Given the description of an element on the screen output the (x, y) to click on. 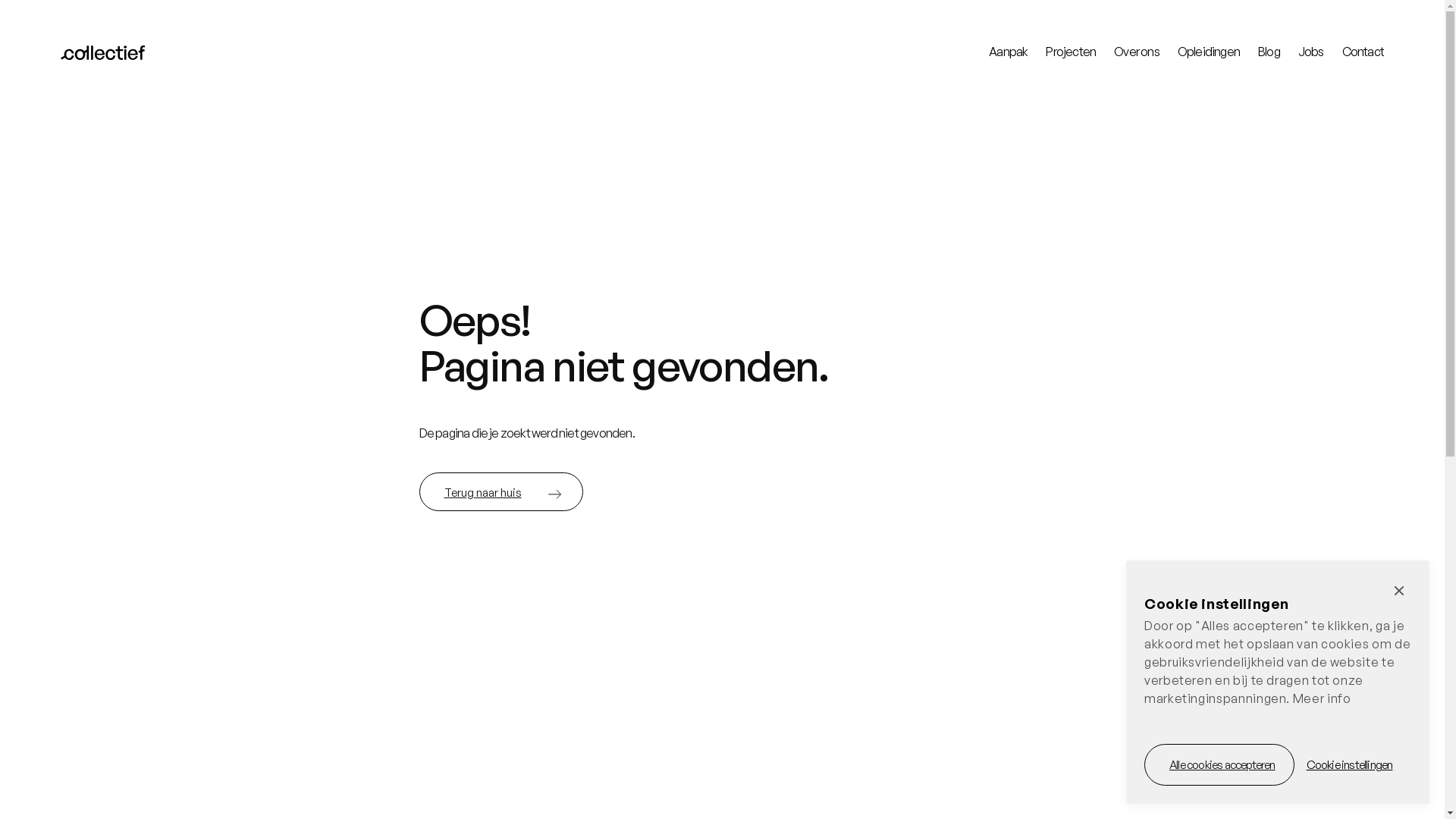
Cookie instellingen Element type: text (1349, 764)
Terug naar huis Element type: text (500, 491)
Contact
Contact Element type: text (1362, 51)
Blog
Blog Element type: text (1269, 51)
Aanpak
Aanpak Element type: text (1007, 51)
Opleidingen
Opleidingen Element type: text (1208, 51)
Close Cookie Popup Element type: text (1398, 590)
Over ons
Over ons Element type: text (1136, 51)
Alle cookies accepteren Element type: text (1219, 764)
Jobs
Jobs Element type: text (1311, 51)
Projecten
Projecten Element type: text (1070, 51)
